Given the description of an element on the screen output the (x, y) to click on. 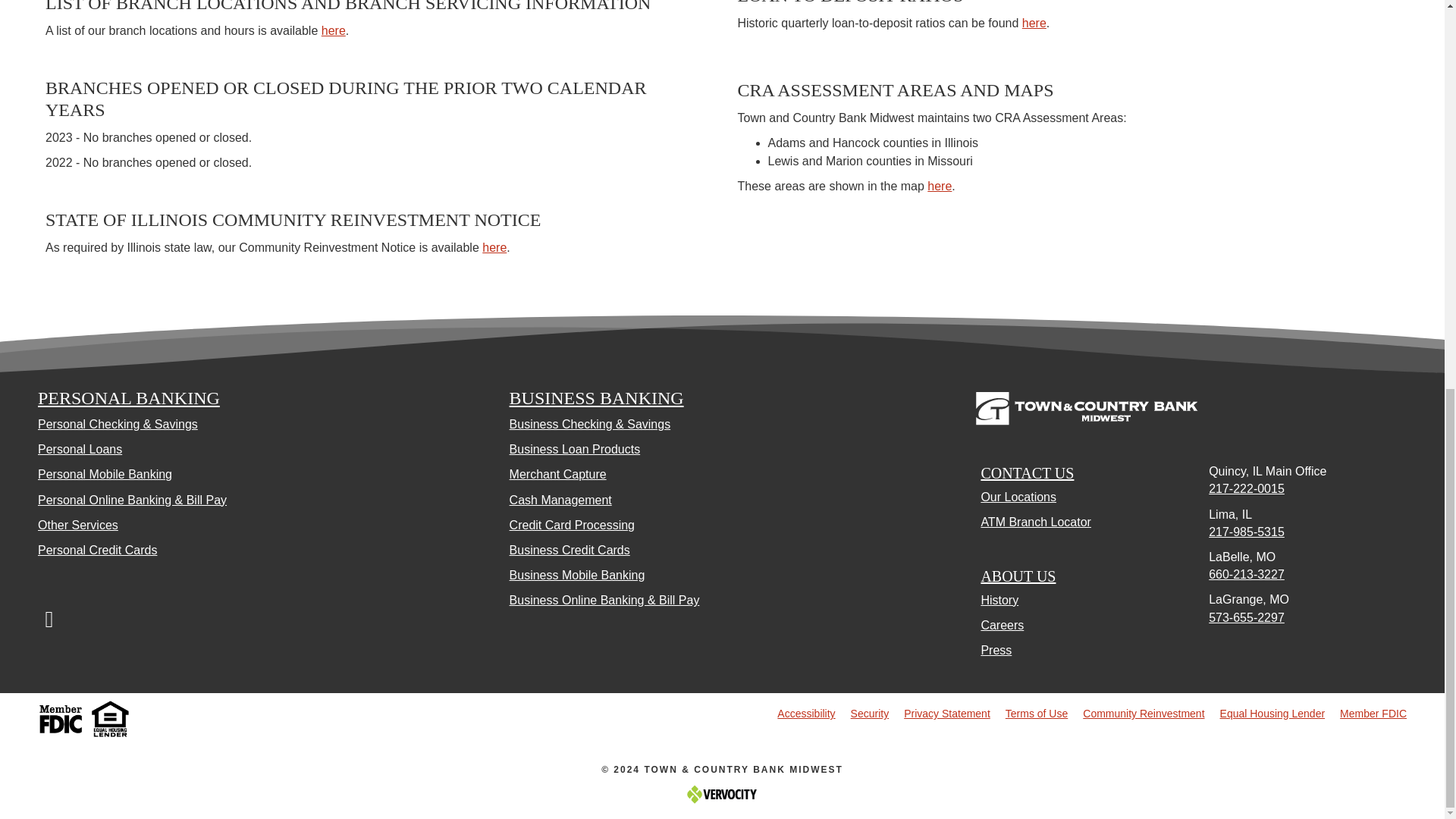
here (493, 246)
here (333, 30)
